Given the description of an element on the screen output the (x, y) to click on. 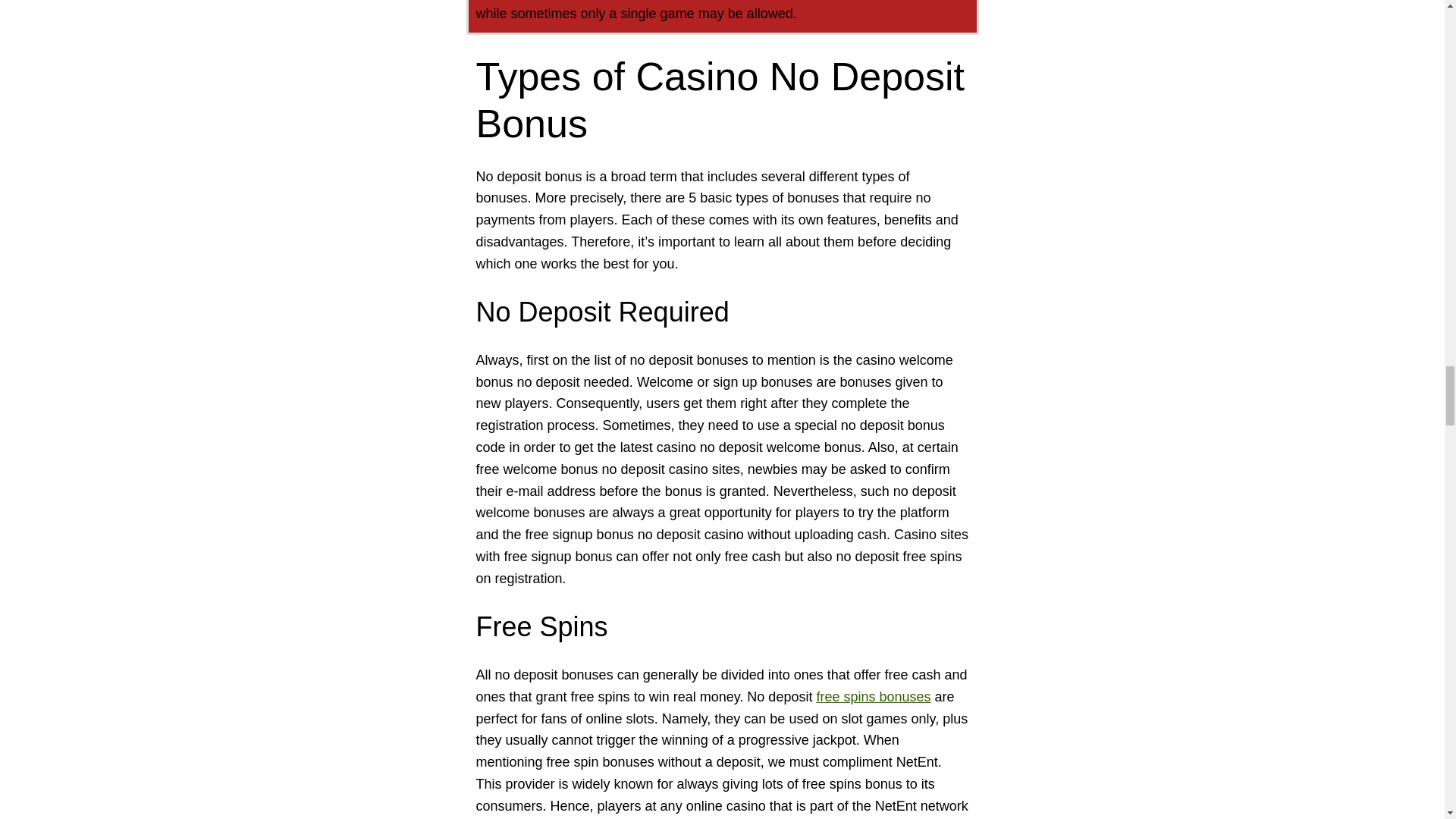
free spins bonuses (872, 696)
